Given the description of an element on the screen output the (x, y) to click on. 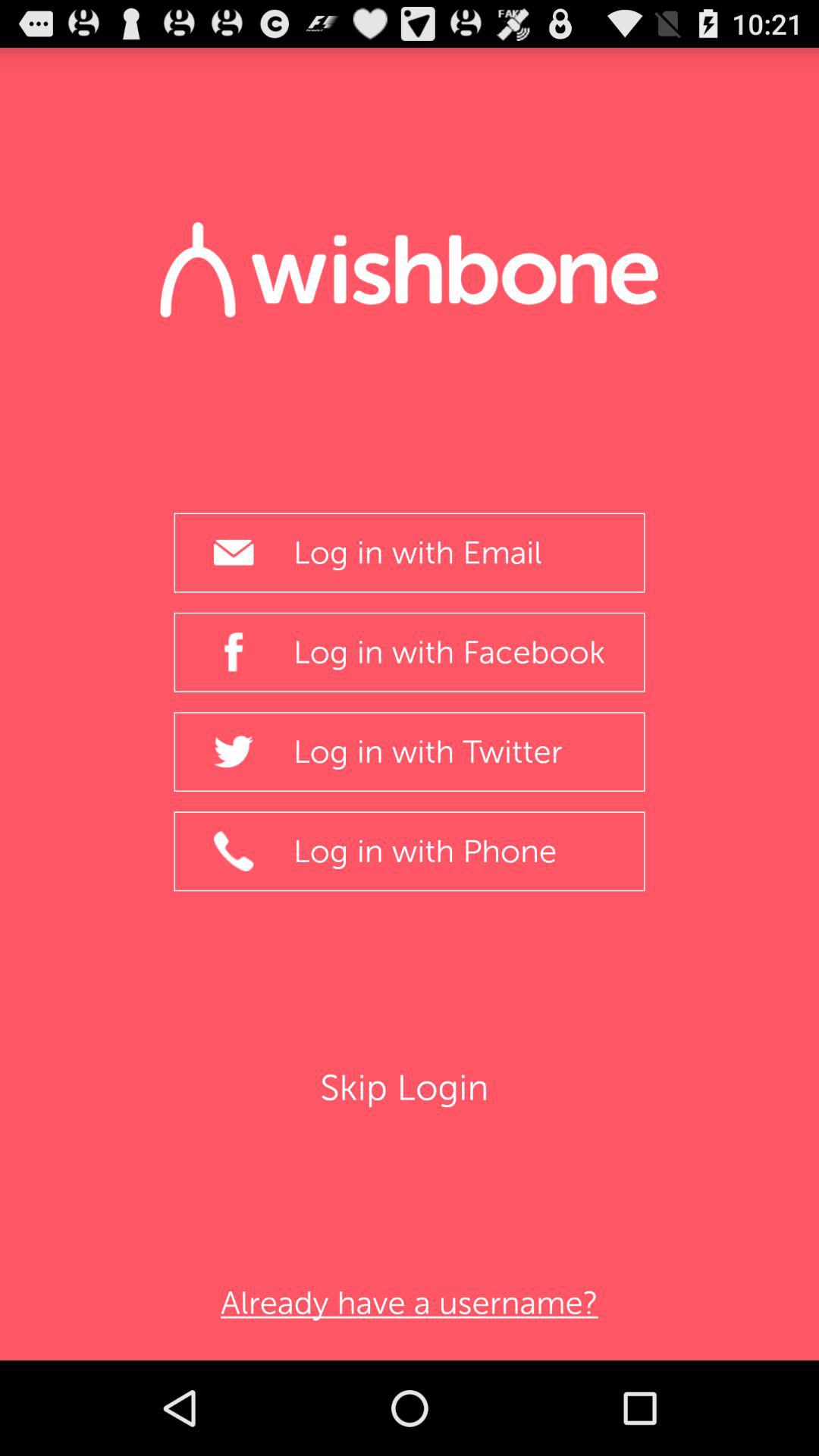
flip until already have a icon (409, 1302)
